Given the description of an element on the screen output the (x, y) to click on. 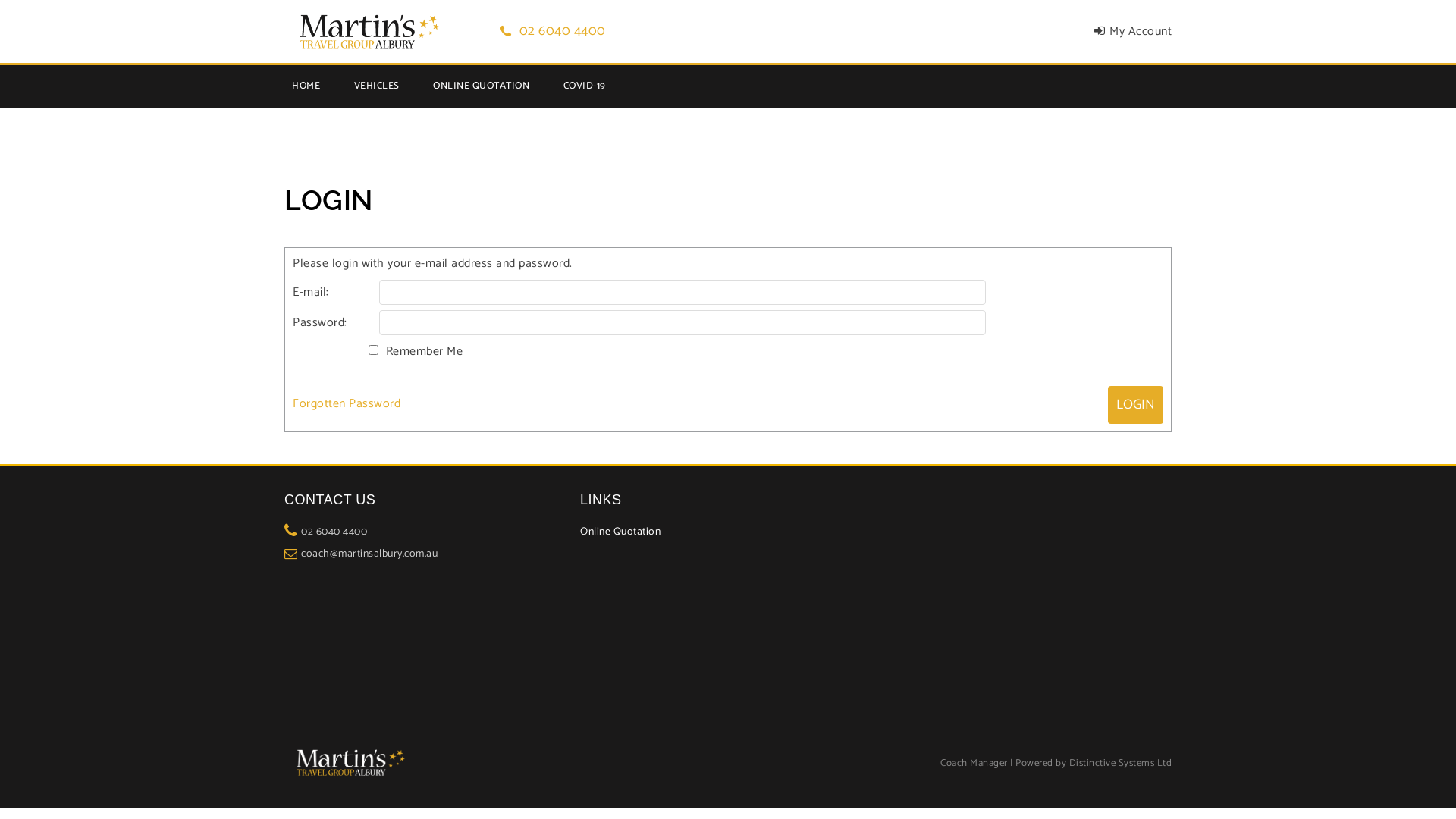
02 6040 4400 Element type: text (552, 30)
Login Element type: text (1135, 404)
My Account Element type: text (1120, 31)
Coach Manager Element type: text (973, 763)
Martins Albury | Tel: (02) 6040 4400 Element type: hover (364, 31)
coach@martinsalbury.com.au Element type: text (369, 553)
02 6040 4400 Element type: text (334, 531)
Online Quotation Element type: text (620, 531)
COVID-19 Element type: text (583, 86)
ONLINE QUOTATION Element type: text (480, 86)
Forgotten Password Element type: text (346, 403)
Distinctive Systems Ltd Element type: text (1120, 763)
HOME Element type: text (305, 86)
VEHICLES Element type: text (376, 86)
